Given the description of an element on the screen output the (x, y) to click on. 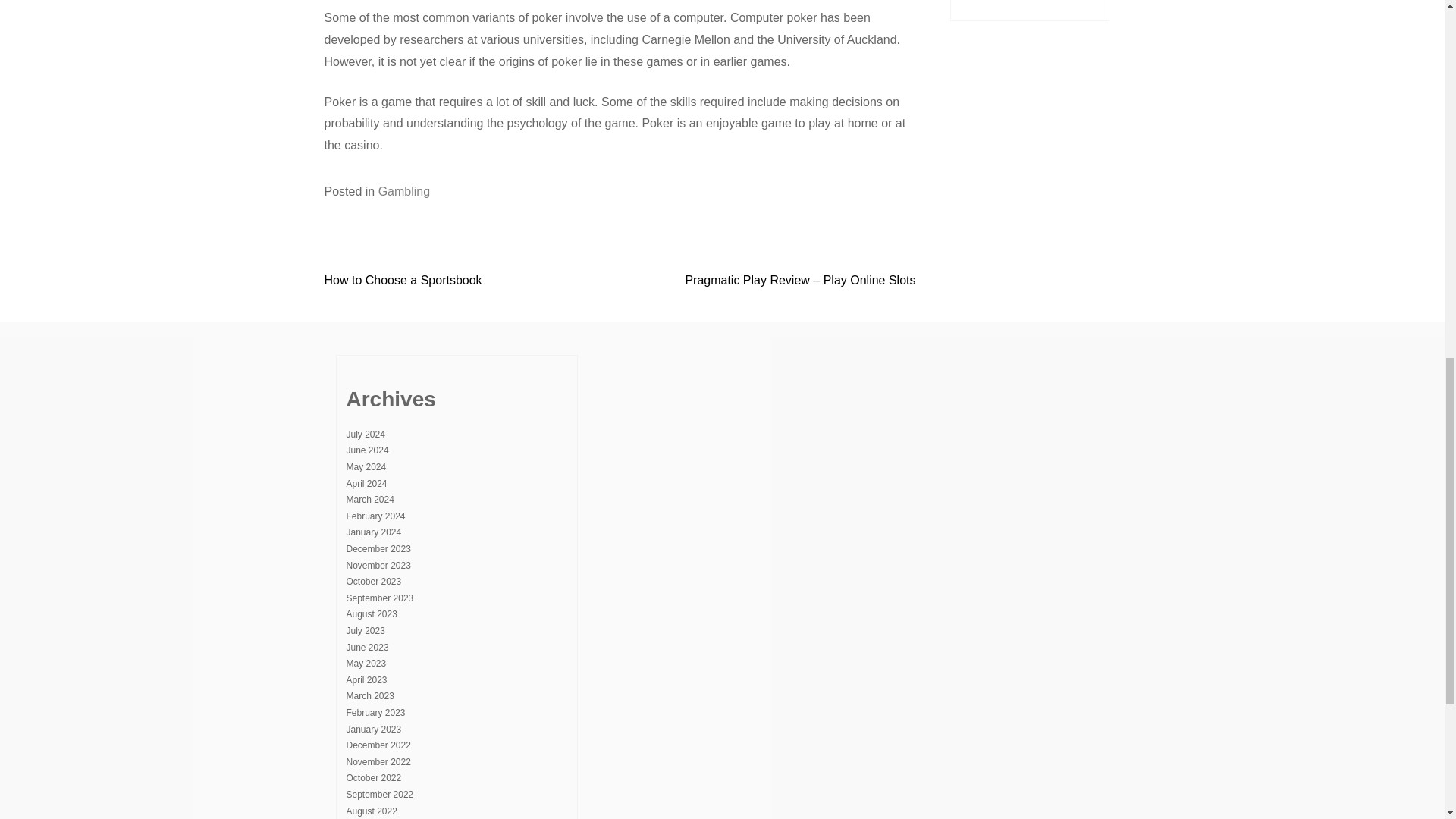
February 2023 (375, 712)
Gambling (403, 191)
January 2023 (373, 728)
January 2024 (373, 532)
August 2023 (371, 614)
September 2022 (379, 794)
June 2024 (367, 450)
July 2023 (365, 630)
How to Choose a Sportsbook (402, 279)
May 2024 (365, 466)
March 2024 (369, 499)
April 2023 (366, 679)
February 2024 (375, 516)
October 2023 (373, 581)
September 2023 (379, 597)
